Given the description of an element on the screen output the (x, y) to click on. 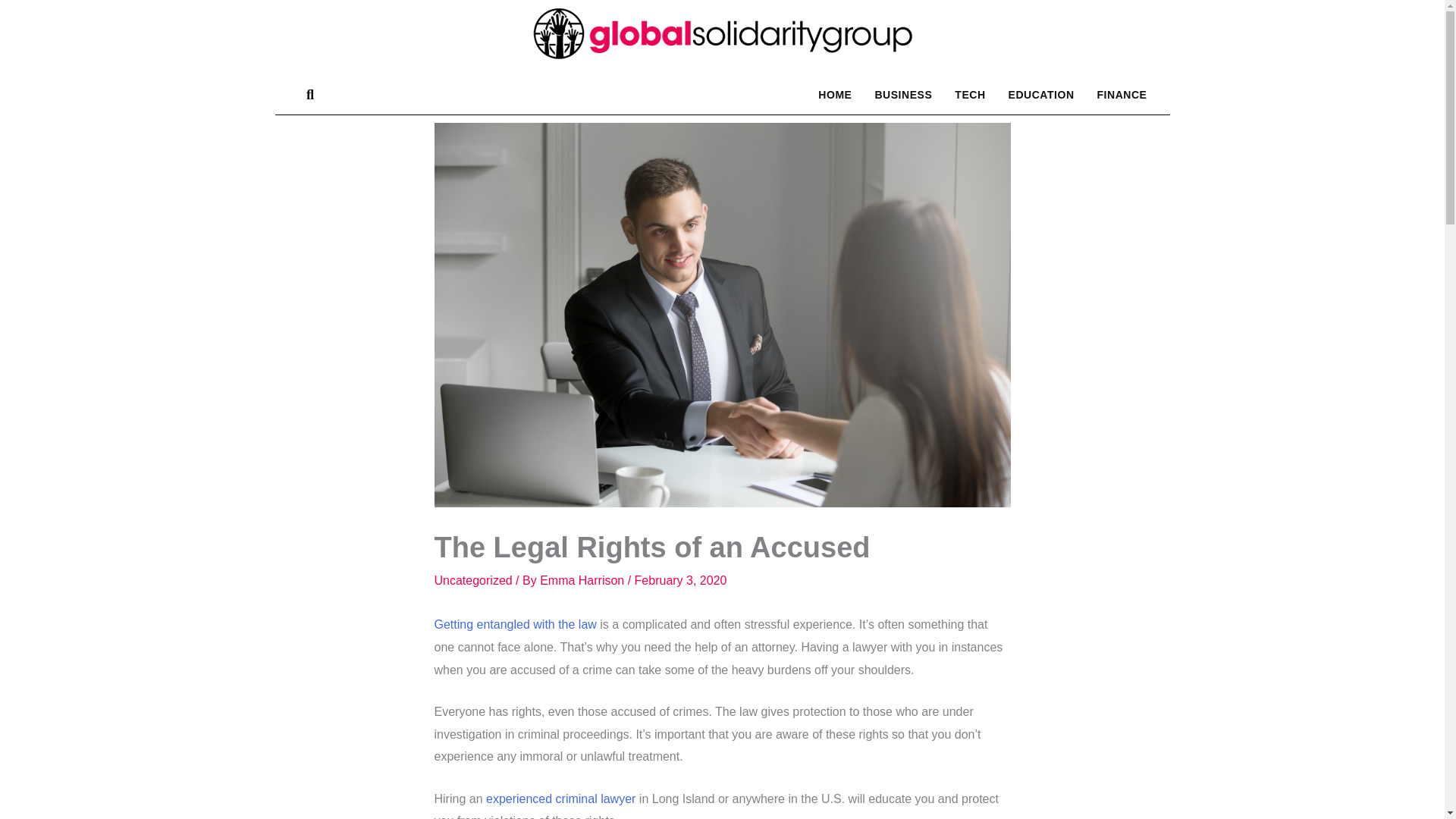
Emma Harrison (583, 580)
TECH (983, 93)
BUSINESS (927, 93)
HOME (888, 93)
View all posts by Emma Harrison (583, 580)
Uncategorized (472, 580)
FINANCE (1122, 93)
EDUCATION (1044, 93)
Getting entangled with the law (514, 624)
Olivier Roche Criminal Defense Attorney (560, 797)
